Given the description of an element on the screen output the (x, y) to click on. 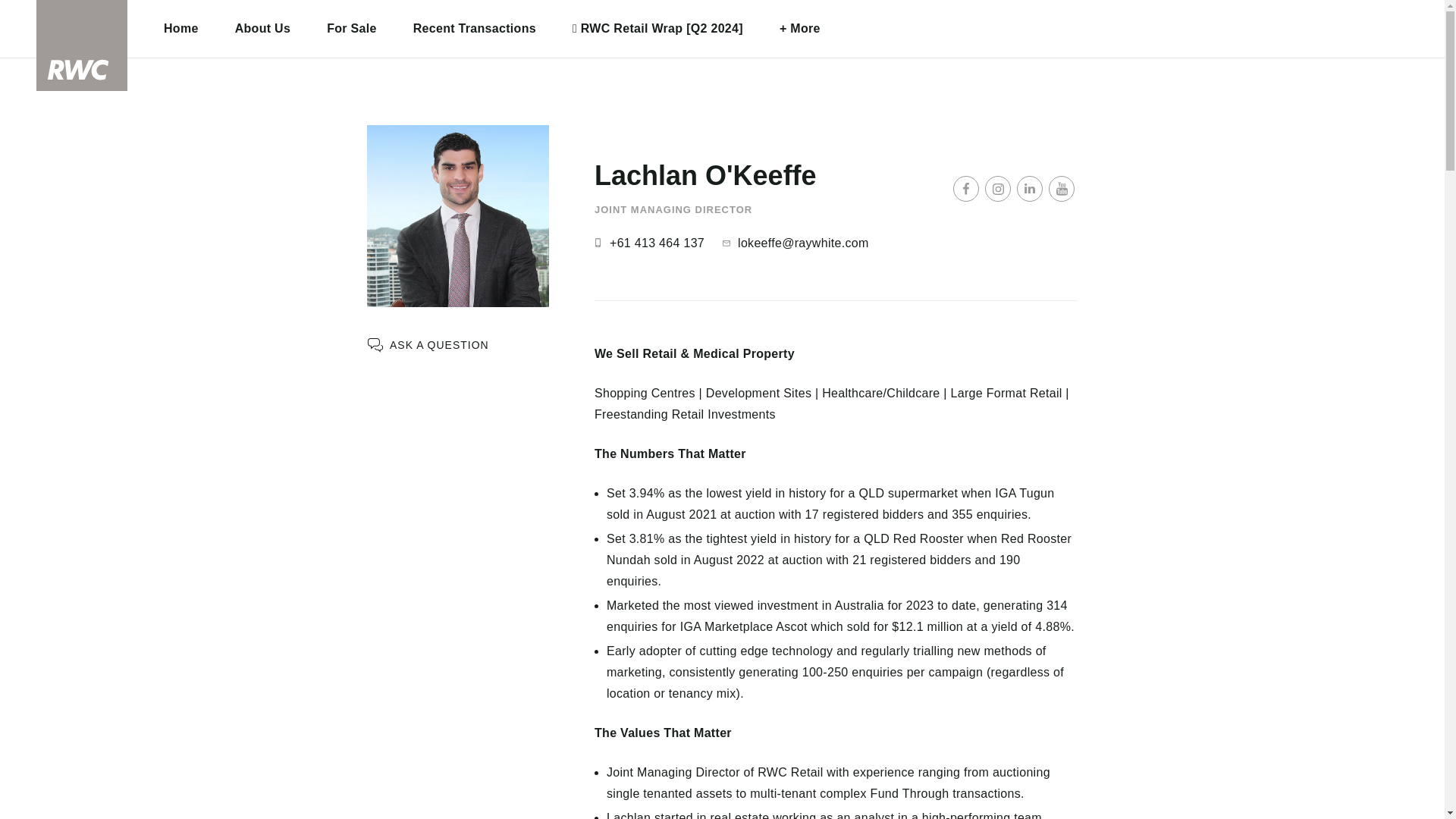
ASK A QUESTION (427, 344)
For Sale (351, 28)
Recent Transactions (474, 28)
About Us (262, 28)
Home (180, 28)
Facebook (965, 188)
Youtube (1061, 188)
Instagram (997, 188)
LinkedIn (1029, 188)
RWC Retail (82, 45)
